Given the description of an element on the screen output the (x, y) to click on. 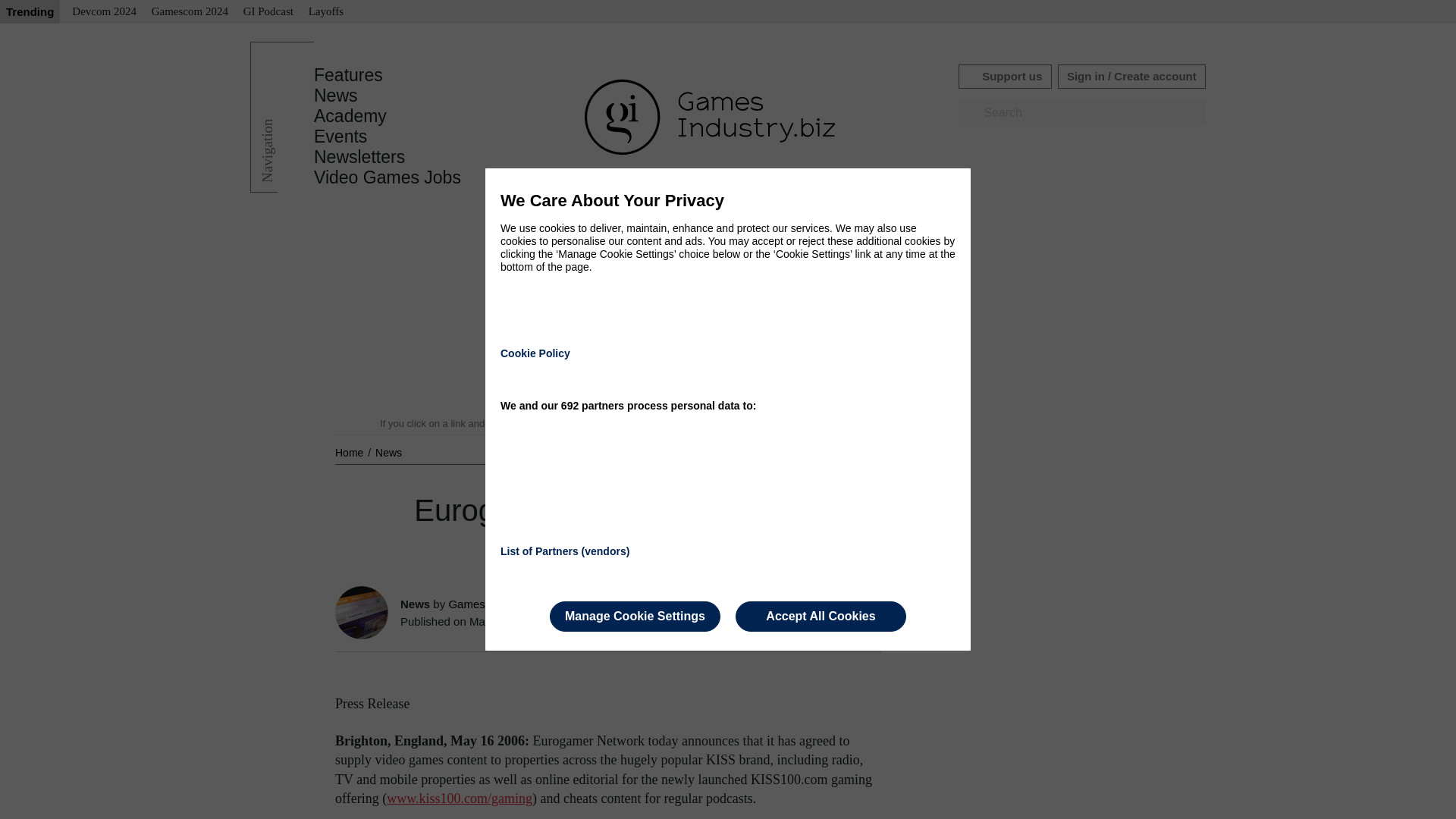
Features (348, 75)
Home (350, 452)
GI Podcast (268, 11)
Features (348, 75)
News (388, 452)
GamesIndustry.biz (494, 603)
Layoffs (325, 11)
Events (340, 136)
Read our editorial policy (781, 423)
Layoffs (325, 11)
